Given the description of an element on the screen output the (x, y) to click on. 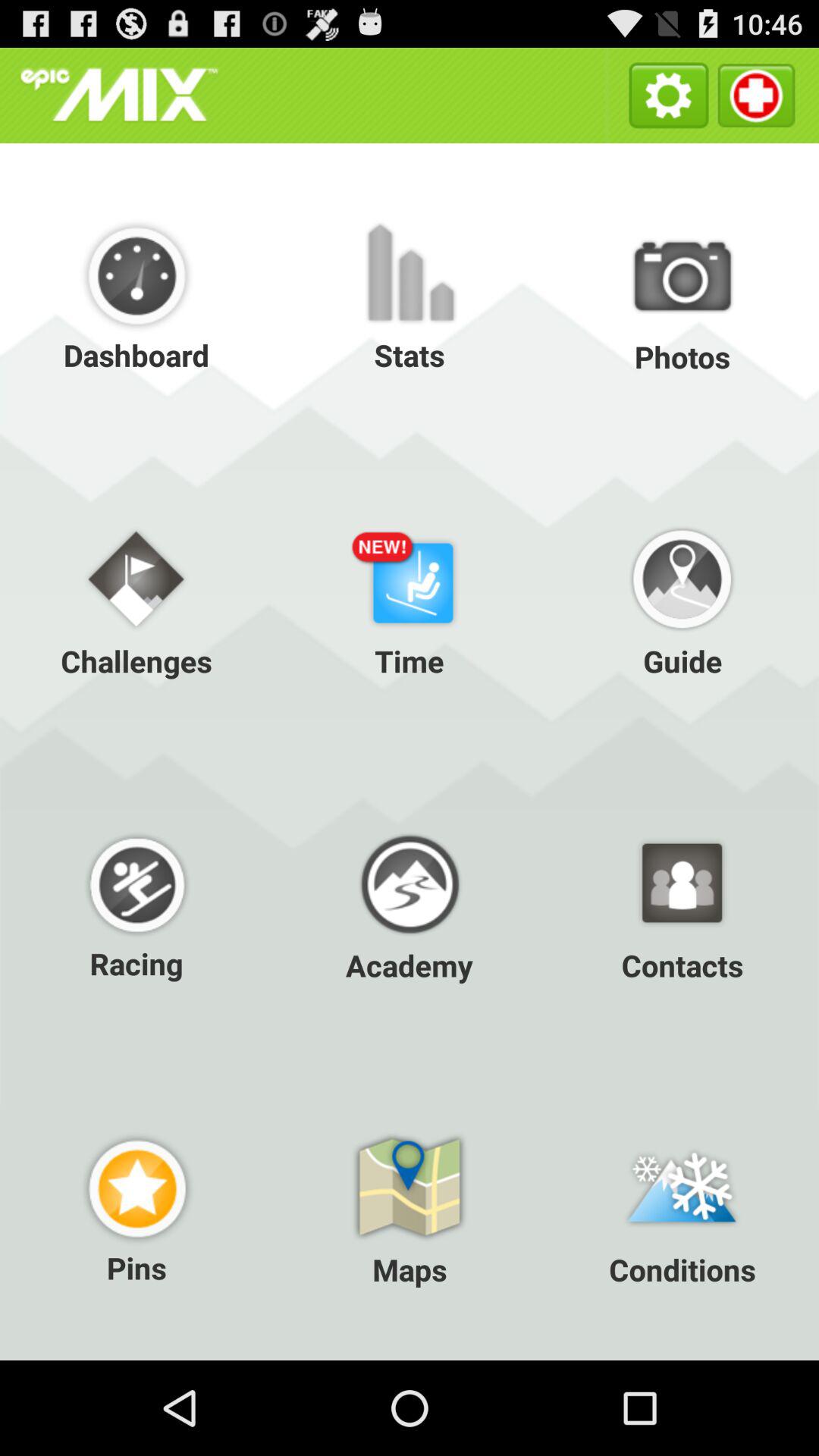
turn off button below the dashboard (136, 599)
